Given the description of an element on the screen output the (x, y) to click on. 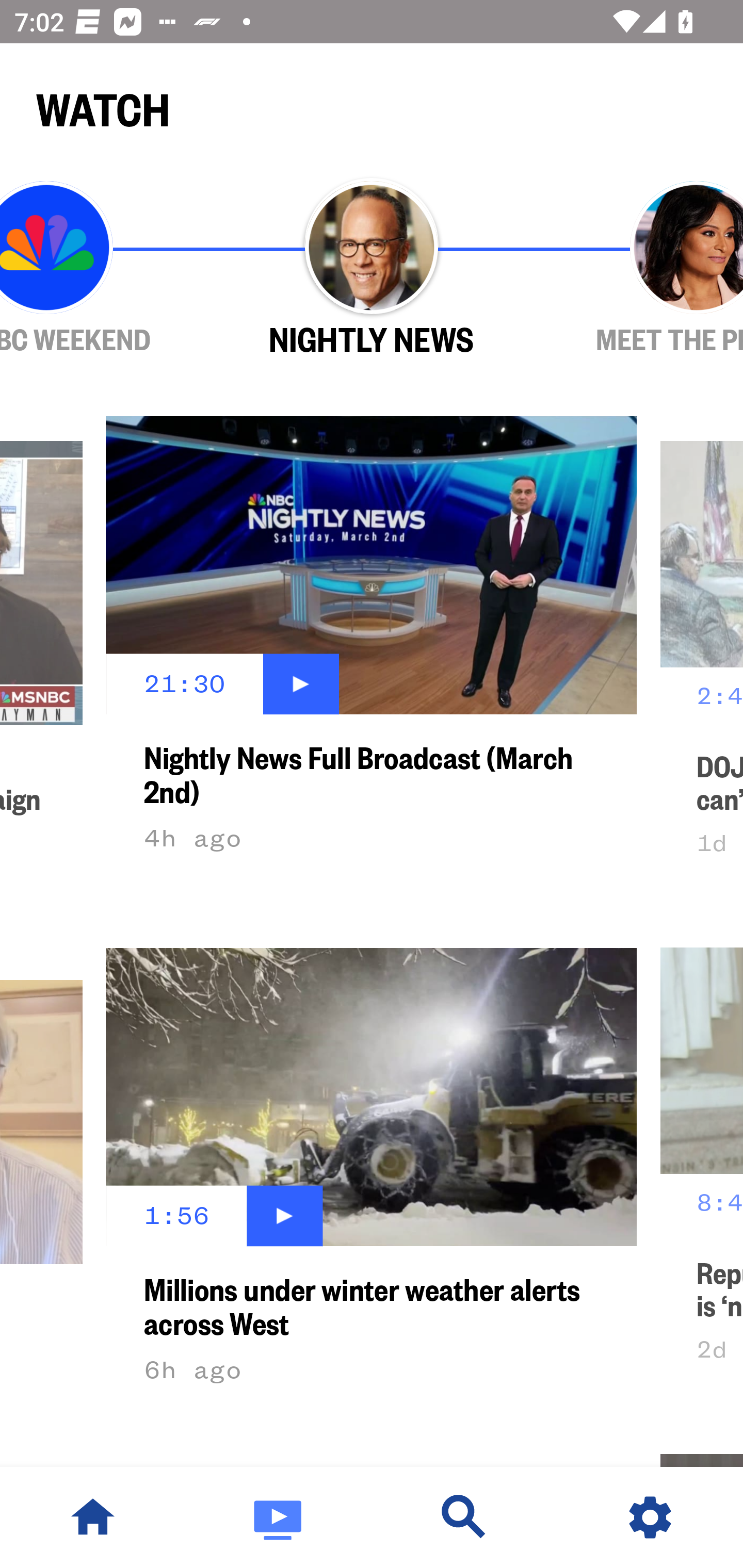
MSNBC WEEKEND (104, 268)
NIGHTLY NEWS (371, 268)
MEET THE PRESS (638, 268)
NBC News Home (92, 1517)
Discover (464, 1517)
Settings (650, 1517)
